Given the description of an element on the screen output the (x, y) to click on. 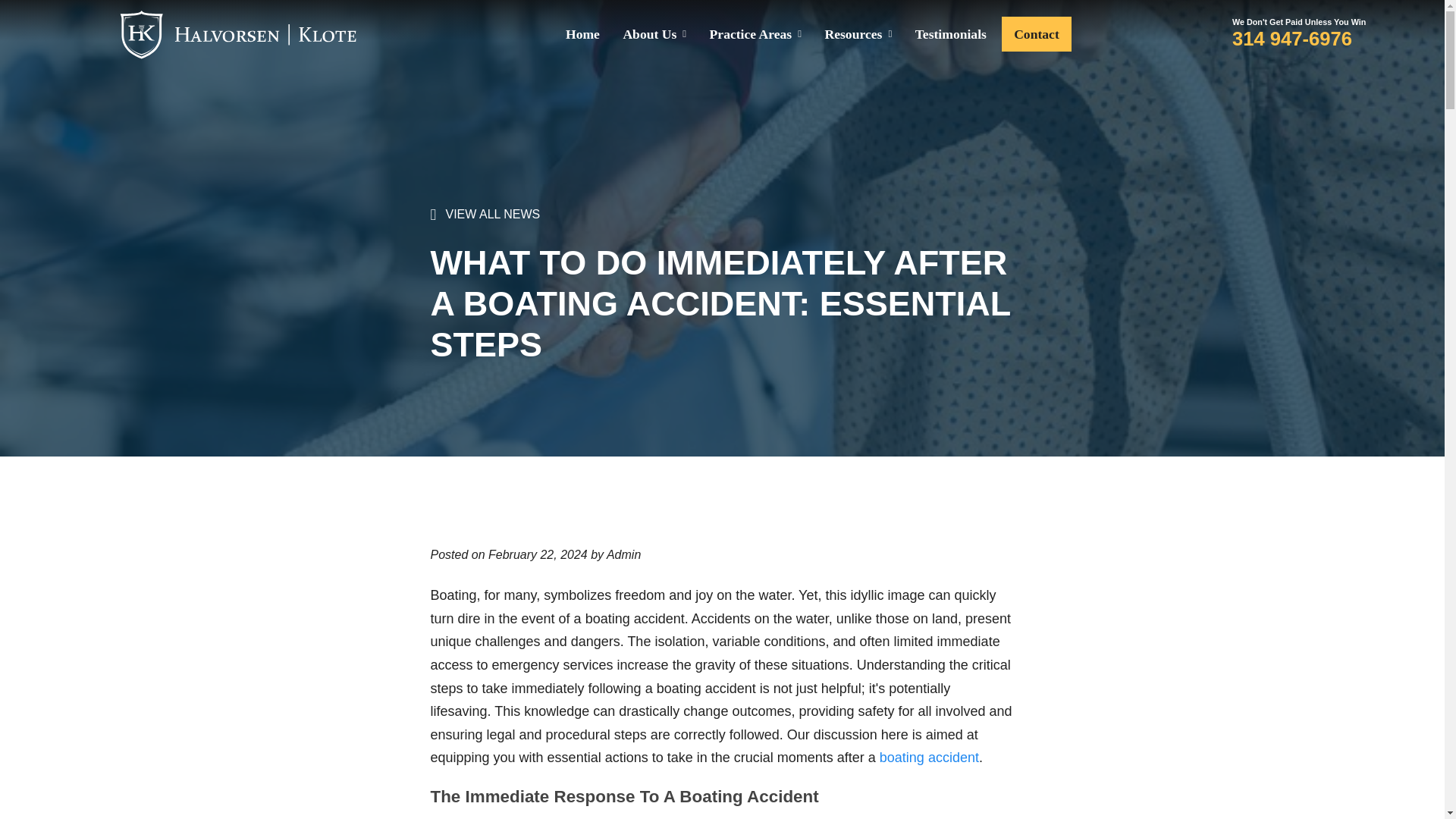
Resources (857, 33)
Contact (1036, 33)
VIEW ALL NEWS (485, 216)
314 947-6976 (1298, 38)
Testimonials (950, 33)
boating accident (928, 757)
About Us (654, 33)
Practice Areas (755, 33)
